Given the description of an element on the screen output the (x, y) to click on. 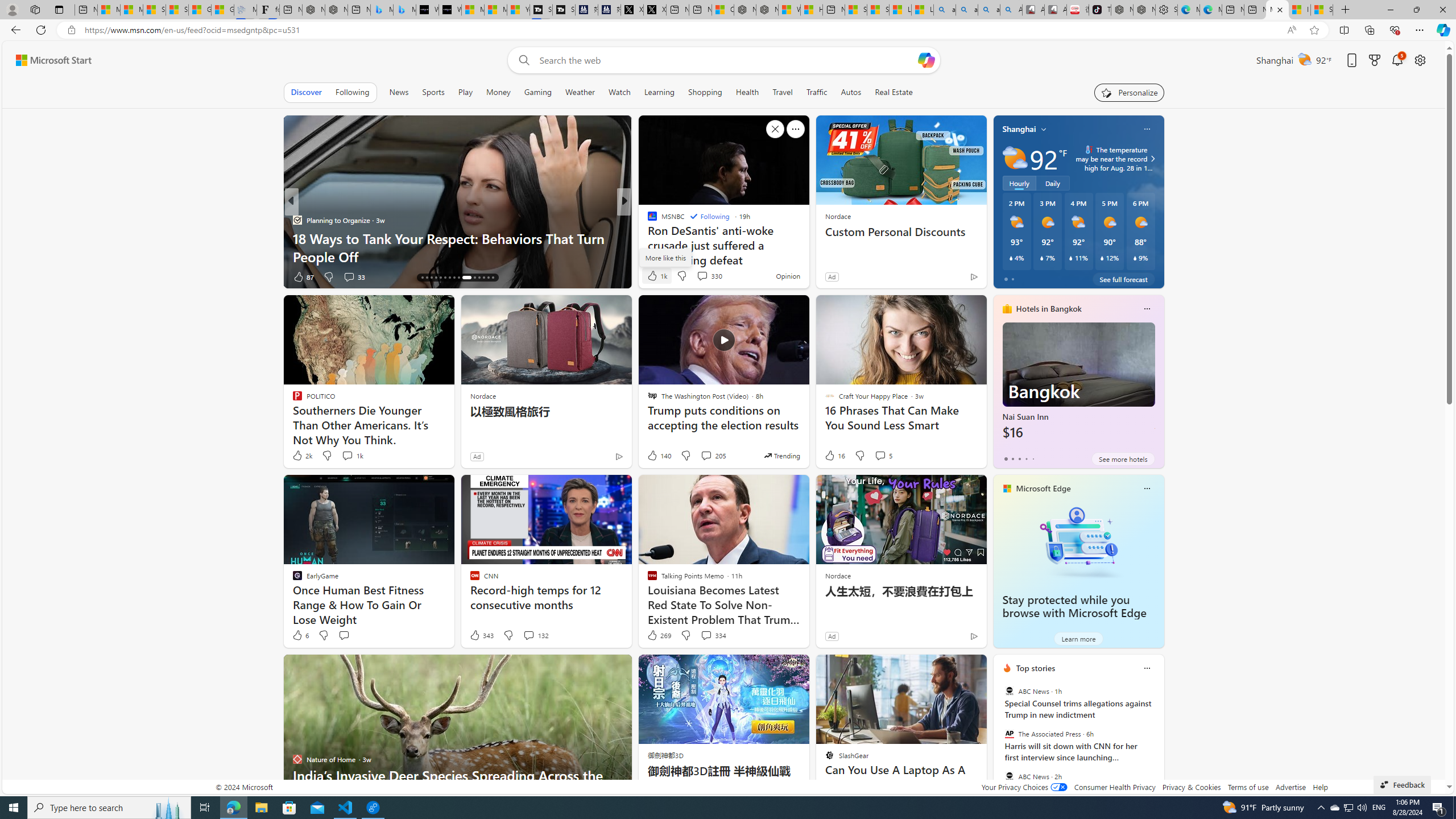
View comments 152 Comment (6, 276)
View comments 353 Comment (6, 276)
Open settings (1420, 60)
Skip to footer (46, 59)
View comments 330 Comment (701, 275)
Comments turned off for this story (695, 276)
View comments 1 Comment (698, 276)
View comments 205 Comment (712, 455)
